Given the description of an element on the screen output the (x, y) to click on. 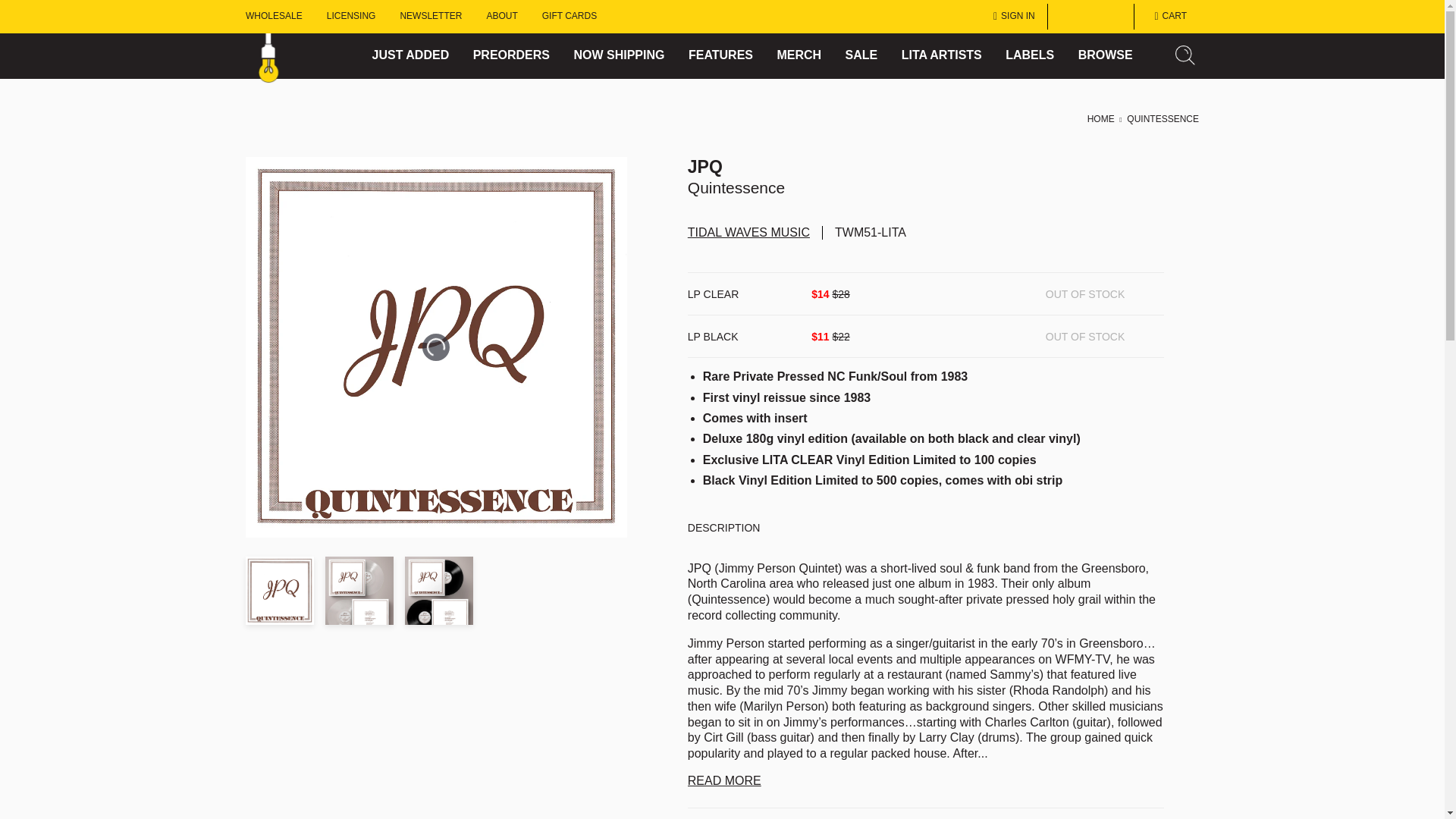
LITA ARTISTS (941, 55)
CART (1166, 16)
GIFT CARDS (568, 16)
NEWSLETTER (429, 16)
MERCH (798, 55)
SALE (861, 55)
JUST ADDED (410, 55)
PREORDERS (511, 55)
LABELS (1030, 55)
